Given the description of an element on the screen output the (x, y) to click on. 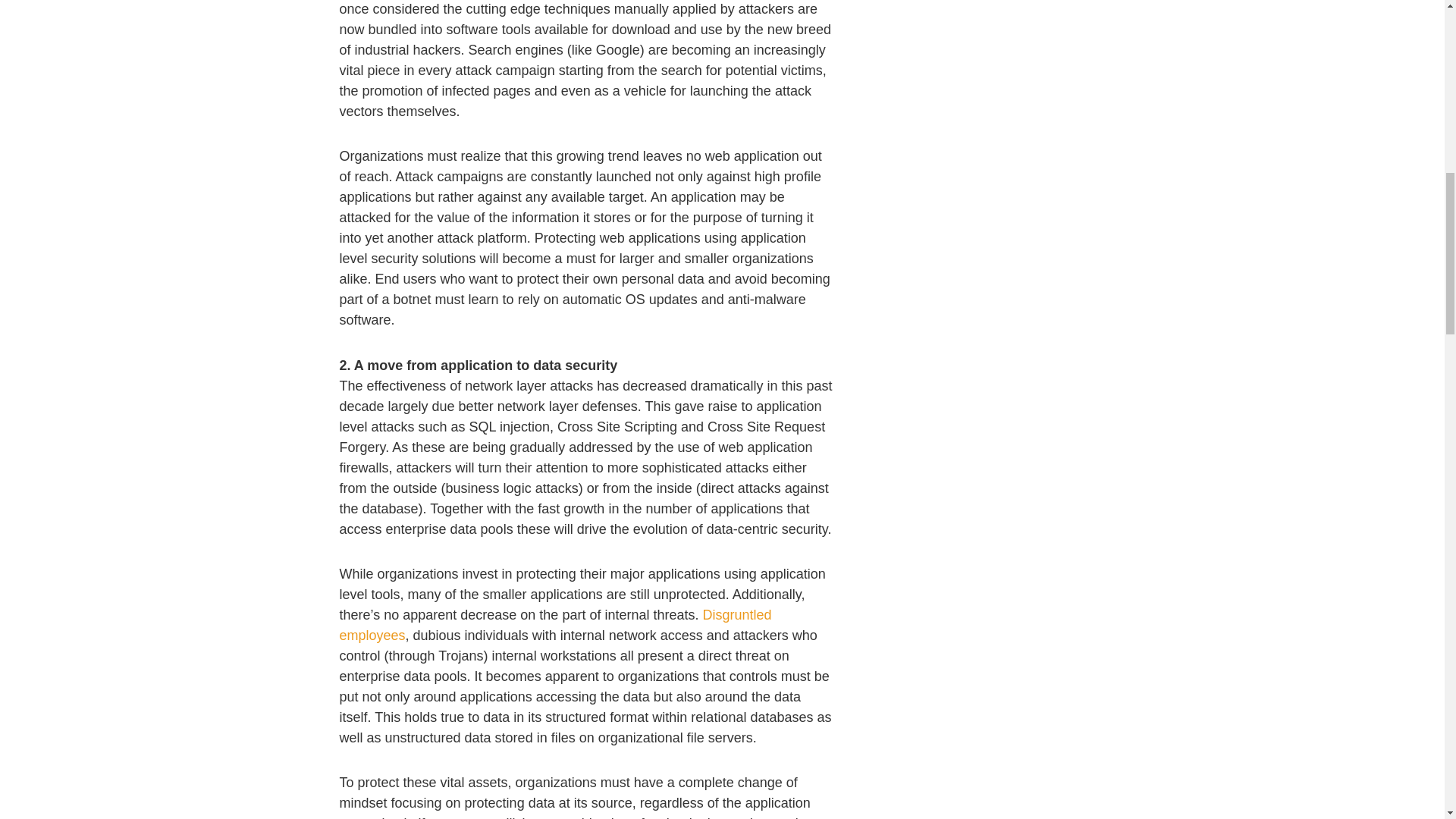
Disgruntled employees (555, 624)
